Given the description of an element on the screen output the (x, y) to click on. 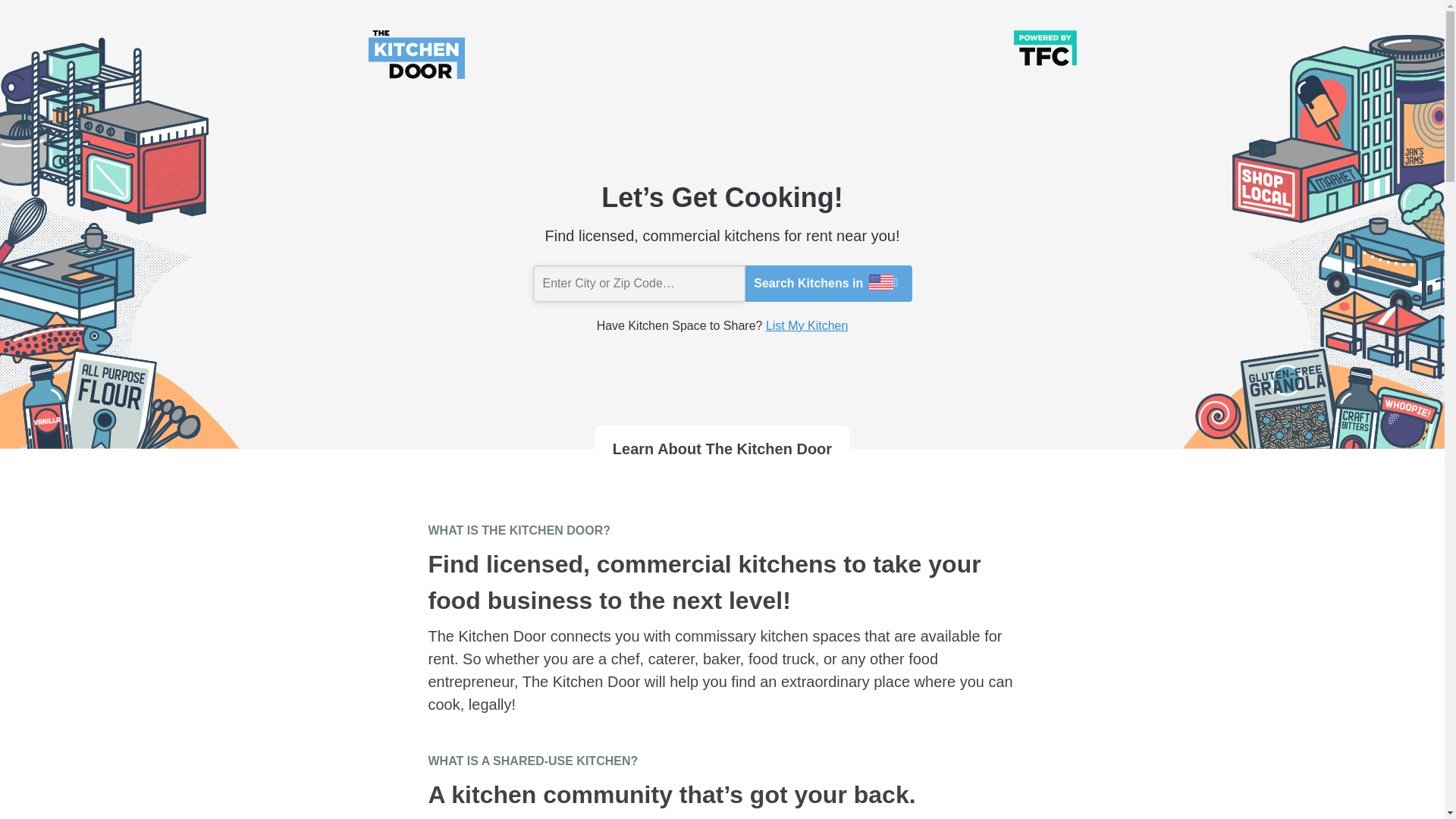
Search in  (83, 18)
List My Kitchen (806, 325)
Search Kitchens in  (827, 283)
Search Kitchens in  (827, 283)
The Kitchen Door (416, 52)
Search Kitchens in  (827, 283)
The Food Corridor (1044, 47)
List My Kitchen (806, 325)
